Given the description of an element on the screen output the (x, y) to click on. 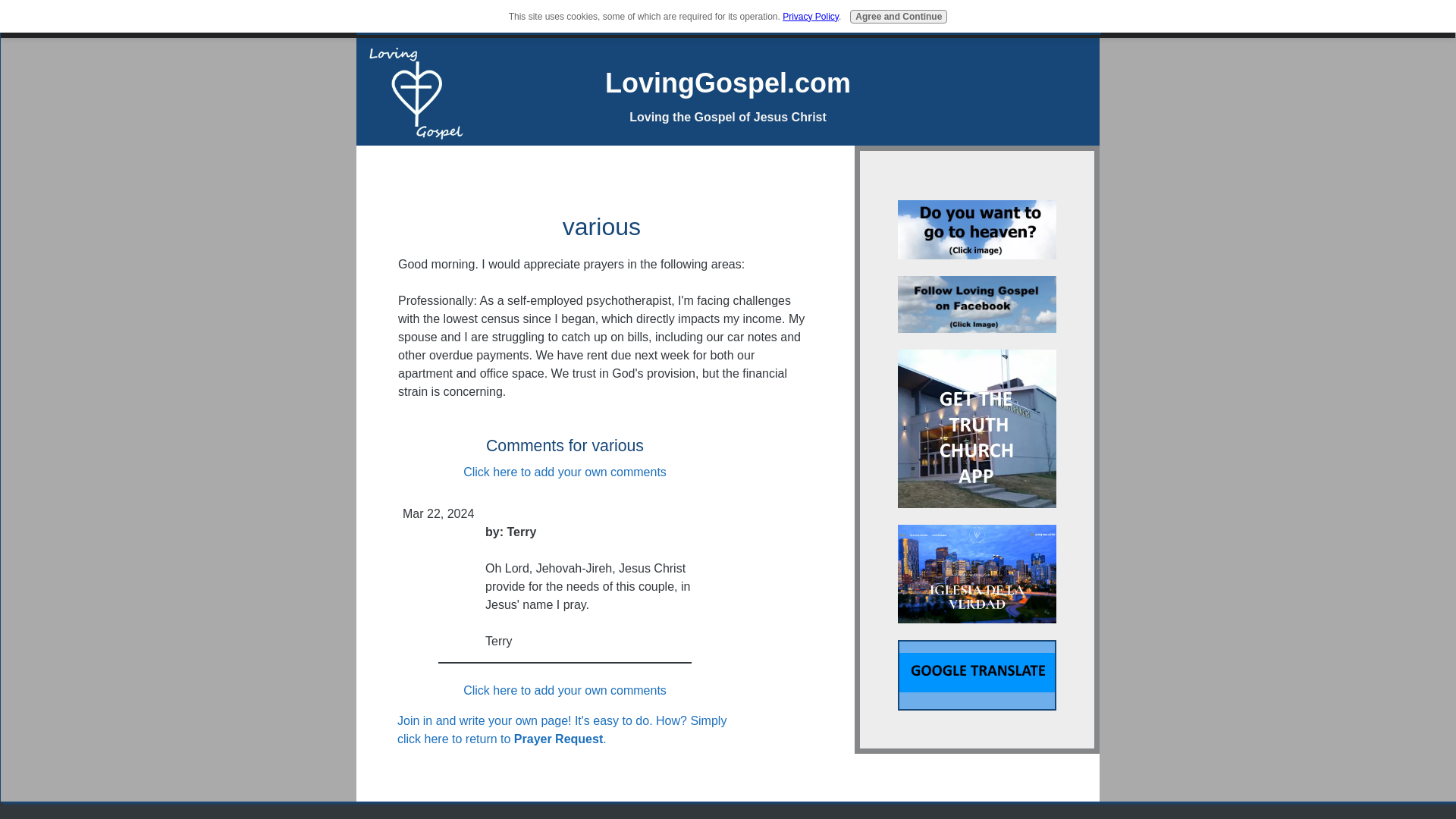
LovingGospel.com (727, 82)
Home (500, 19)
South Campus (977, 573)
Go to Do you want to go to heaven? (977, 254)
Go to Truth Church App (977, 503)
